Given the description of an element on the screen output the (x, y) to click on. 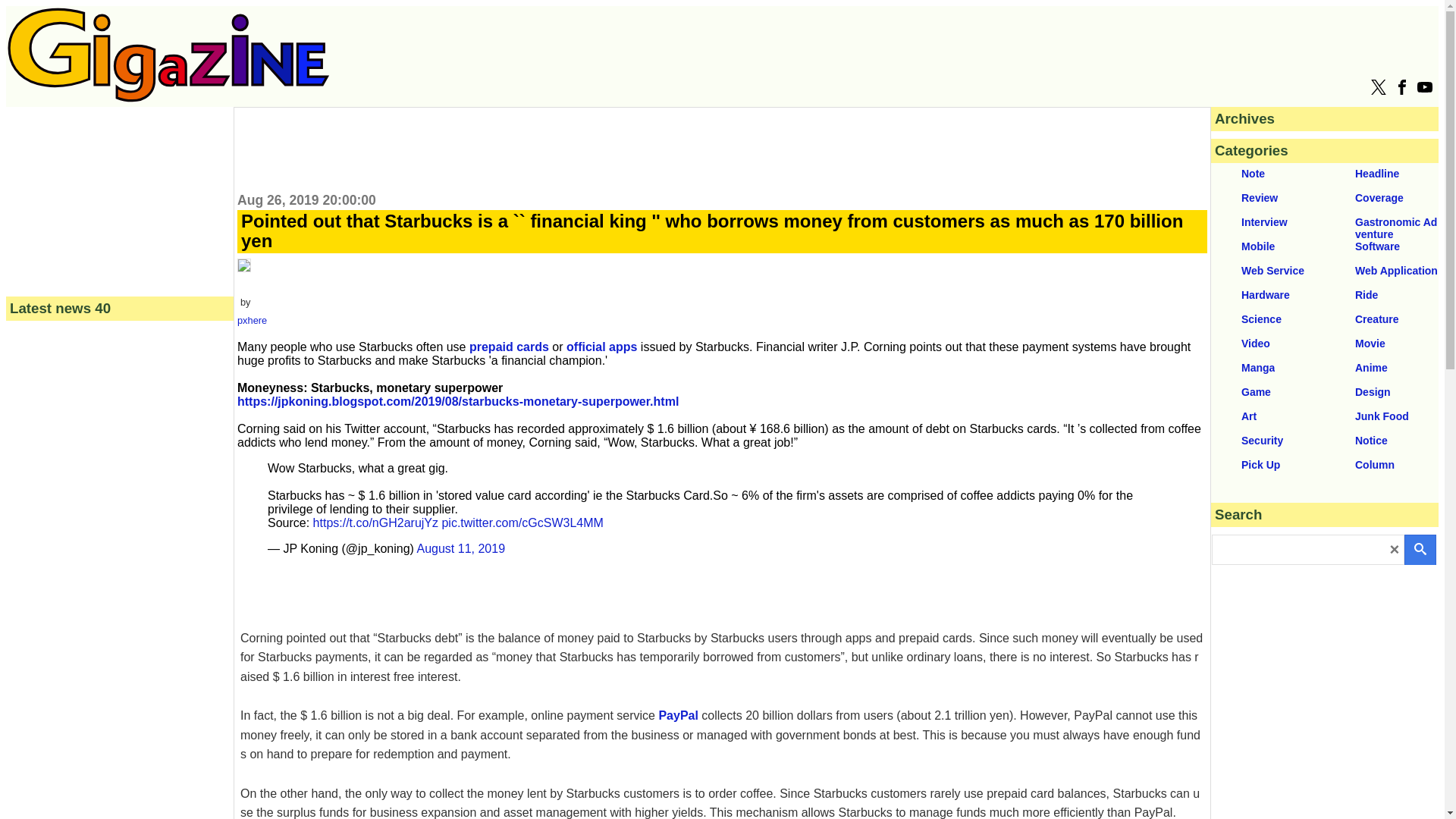
GIGAZINE (168, 54)
official apps (601, 346)
GIGAZINE (168, 97)
pxhere (251, 319)
PayPal (677, 715)
August 11, 2019 (460, 548)
prepaid cards (508, 346)
